Given the description of an element on the screen output the (x, y) to click on. 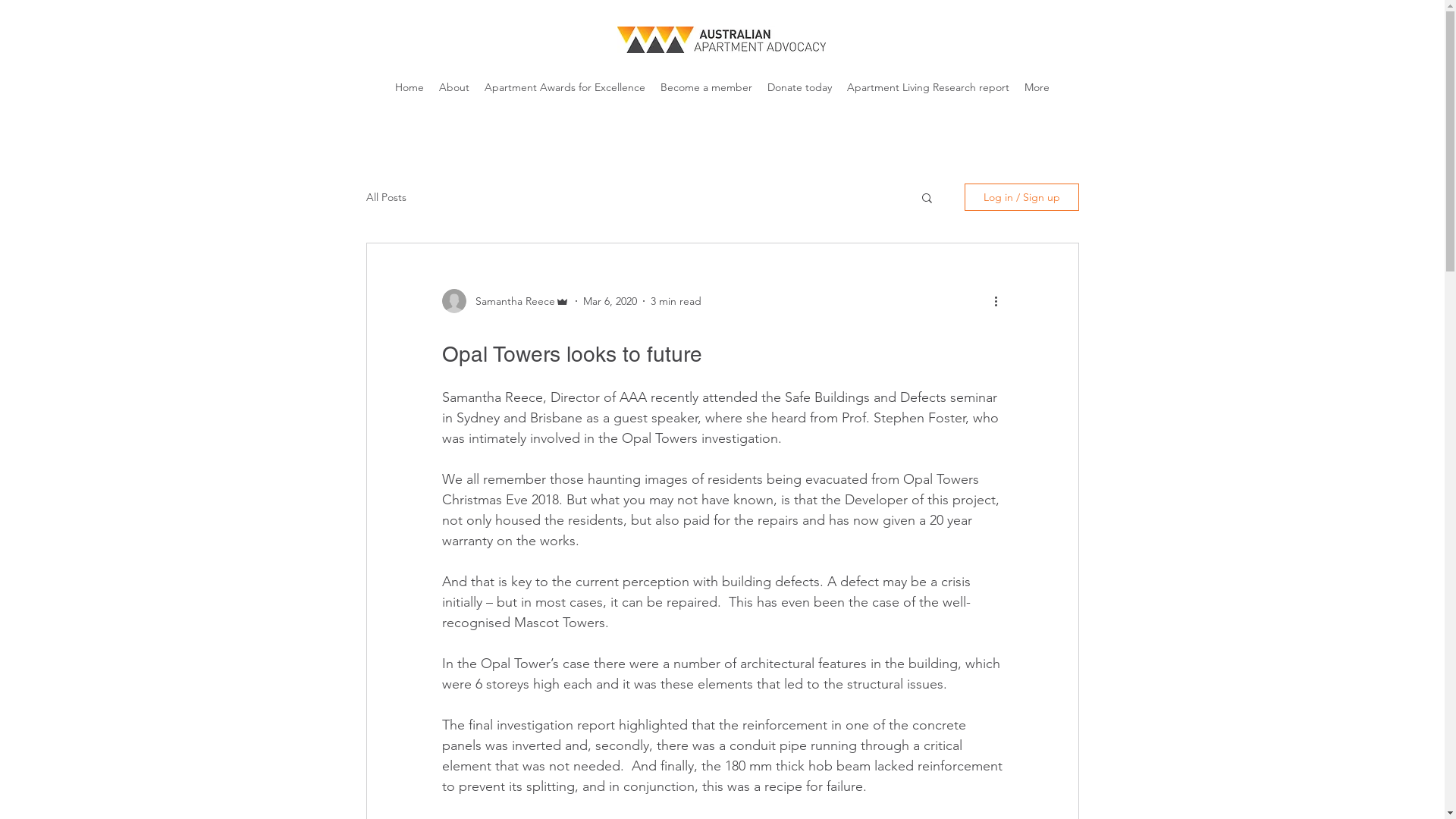
Donate today Element type: text (799, 86)
Apartment Awards for Excellence Element type: text (564, 86)
Apartment Living Research report Element type: text (927, 86)
Become a member Element type: text (705, 86)
Home Element type: text (409, 86)
All Posts Element type: text (385, 196)
About Element type: text (453, 86)
Log in / Sign up Element type: text (1021, 196)
